Given the description of an element on the screen output the (x, y) to click on. 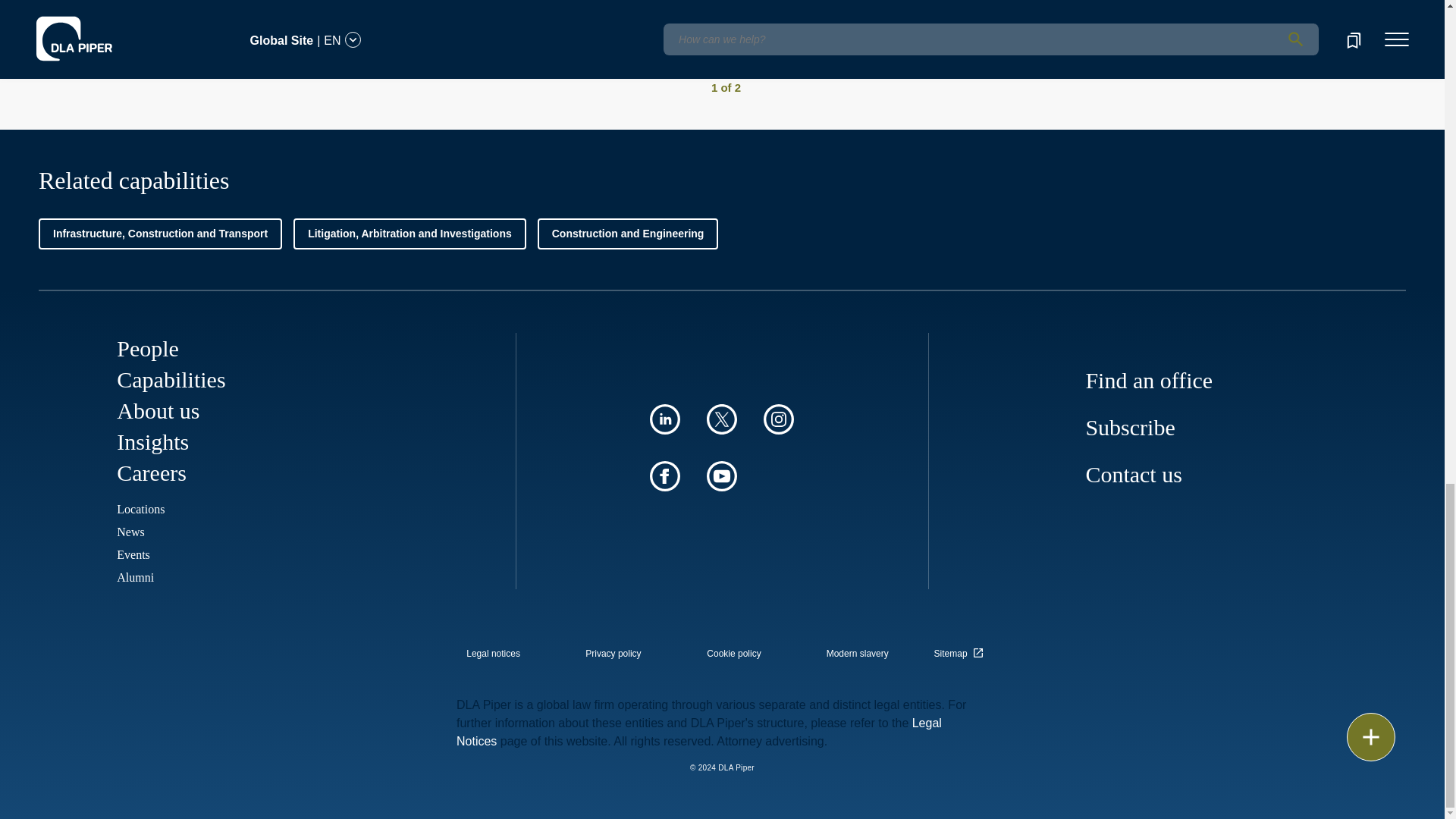
internal (493, 653)
internal (857, 653)
internal (612, 653)
external (960, 649)
internal (734, 653)
